Given the description of an element on the screen output the (x, y) to click on. 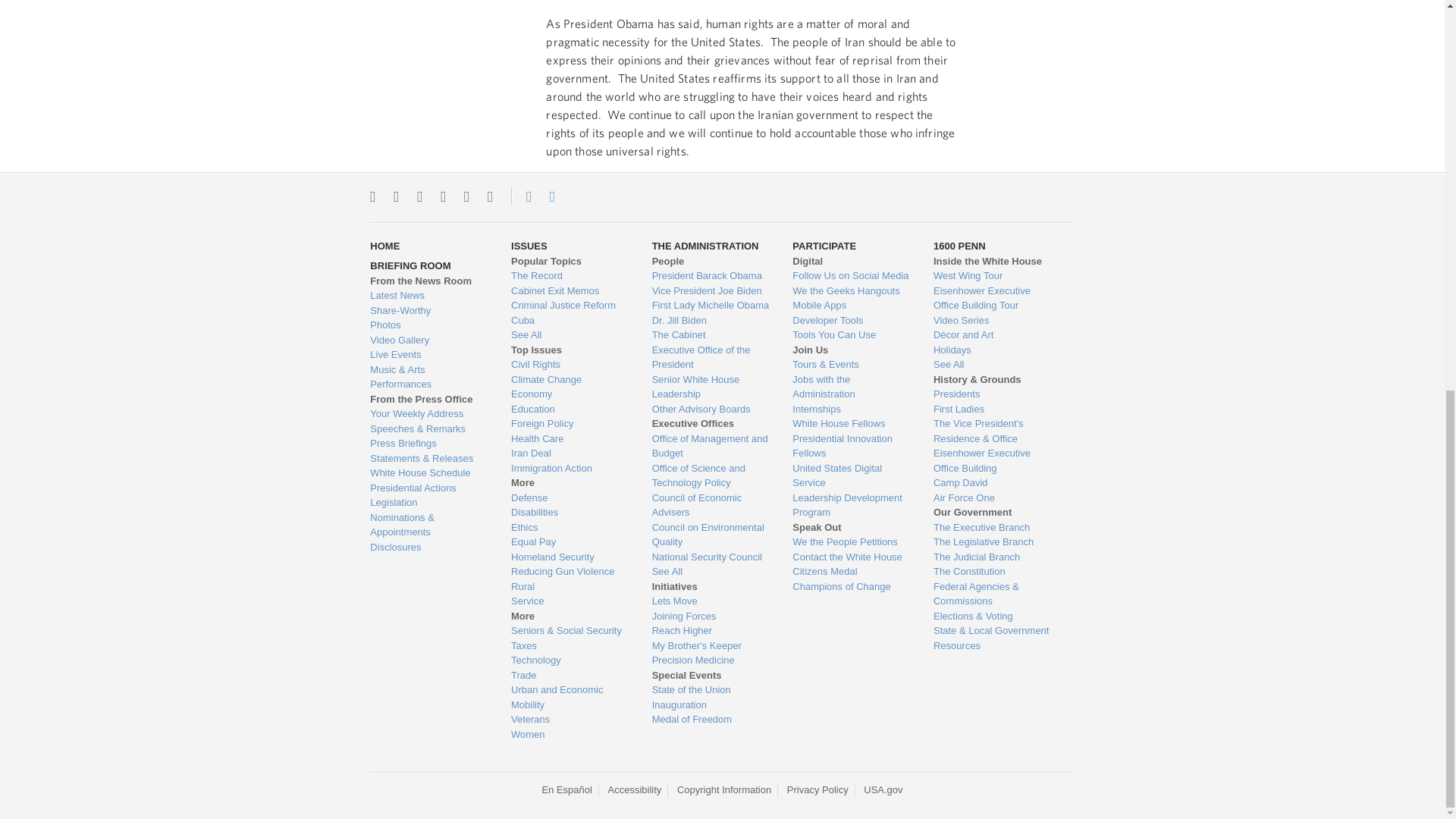
Read the latest blog posts from 1600 Pennsylvania Ave (428, 295)
Check out the most popular infographics and videos (428, 310)
View the photo of the day and other galleries (428, 324)
Contact the Whitehouse. (521, 196)
Watch behind-the-scenes videos and more (428, 340)
